Given the description of an element on the screen output the (x, y) to click on. 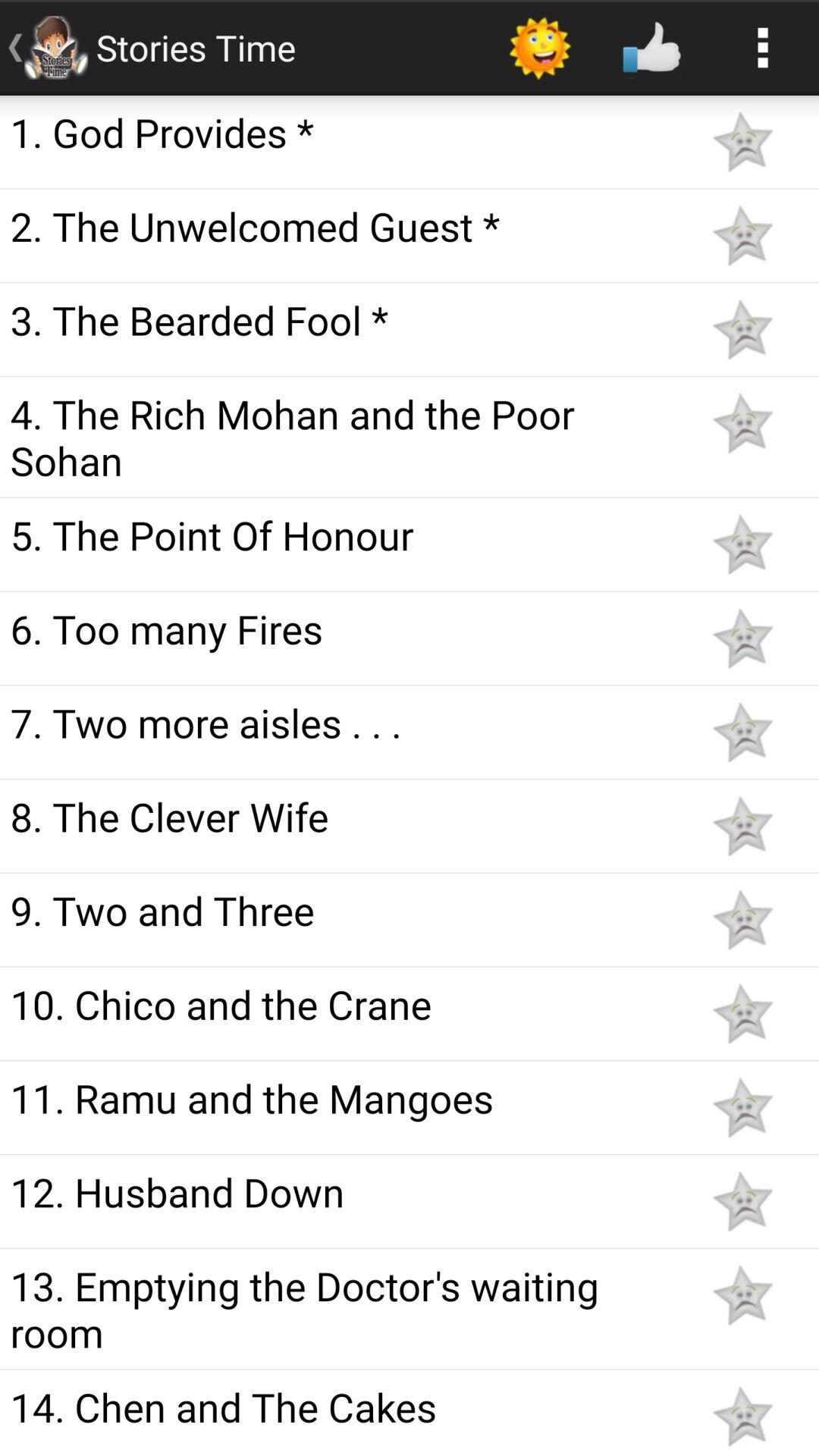
bookmark the story (742, 141)
